Given the description of an element on the screen output the (x, y) to click on. 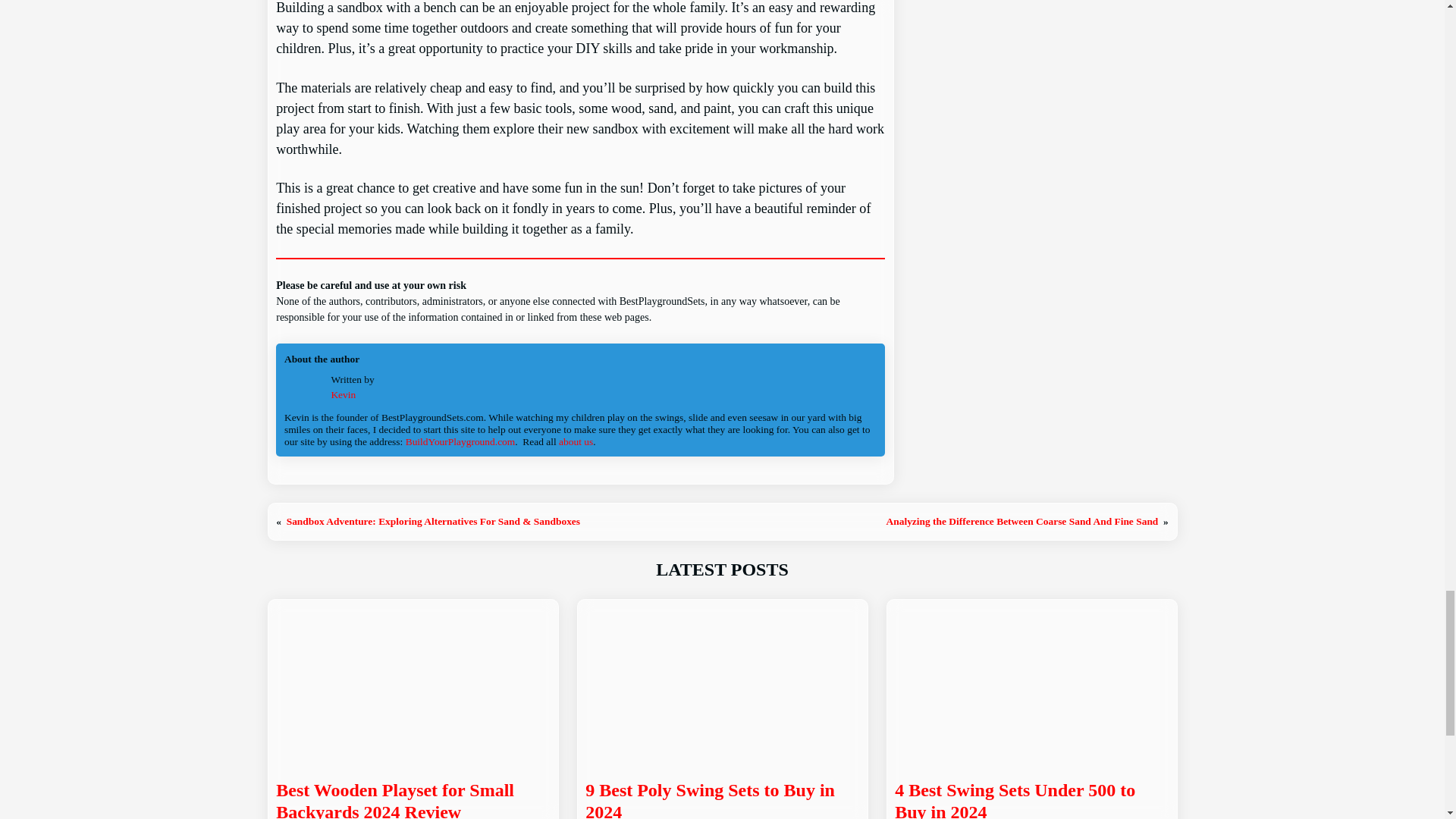
about us (575, 441)
BuildYourPlayground.com (460, 441)
Analyzing the Difference Between Coarse Sand And Fine Sand (1021, 521)
Kevin (342, 394)
Best Wooden Playset for Small Backyards 2024 Review (413, 799)
